Given the description of an element on the screen output the (x, y) to click on. 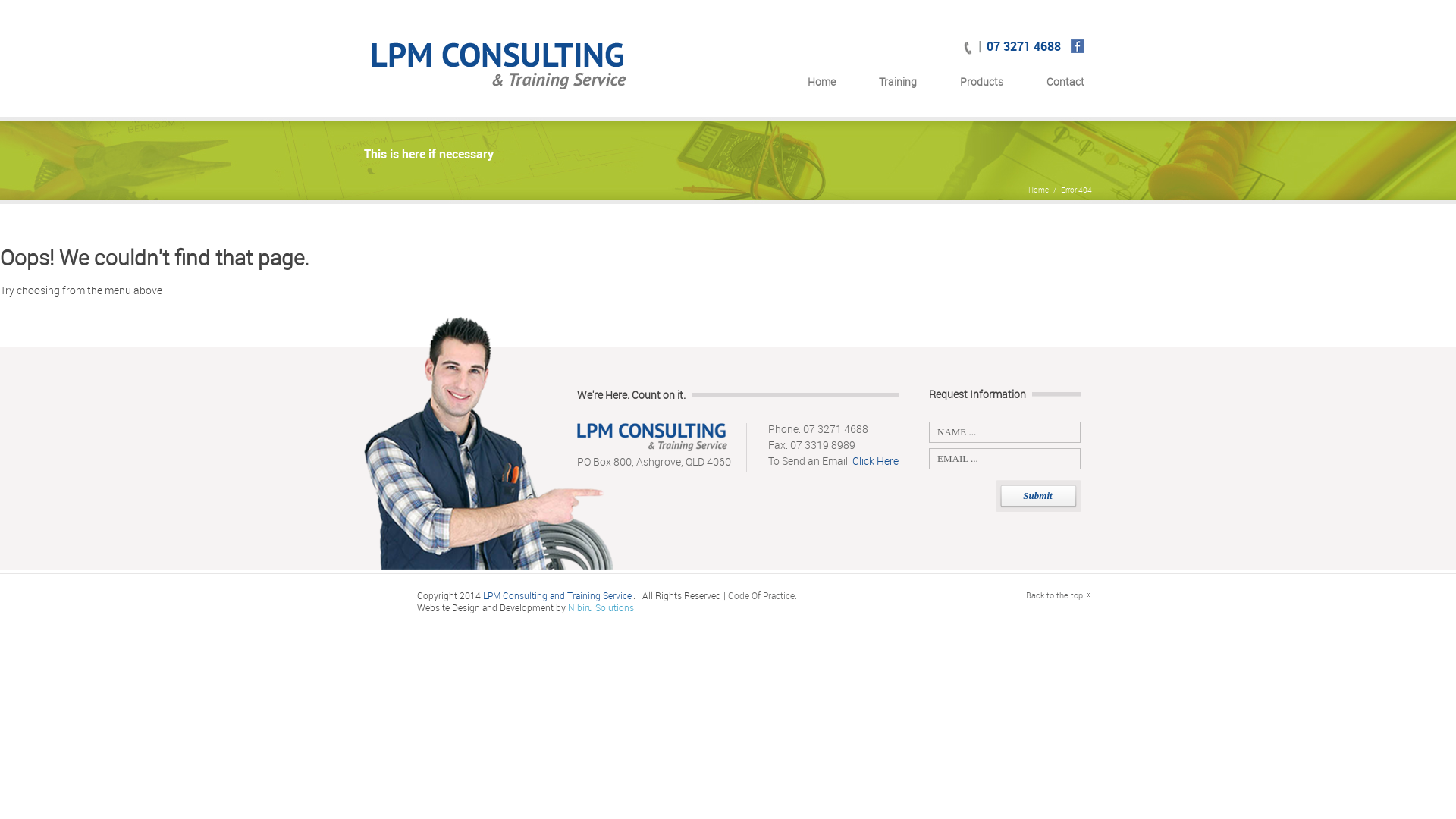
Nibiru Solutions Element type: text (600, 607)
Submit Element type: text (1037, 495)
Code Of Practice. Element type: text (762, 595)
Training Element type: text (897, 85)
Products Element type: text (981, 85)
Home Element type: text (821, 85)
Back to the top Element type: text (1059, 594)
LPMCTS Element type: hover (500, 69)
Home Element type: text (1038, 189)
Contact Element type: text (1065, 85)
Click Here Element type: text (875, 460)
